Given the description of an element on the screen output the (x, y) to click on. 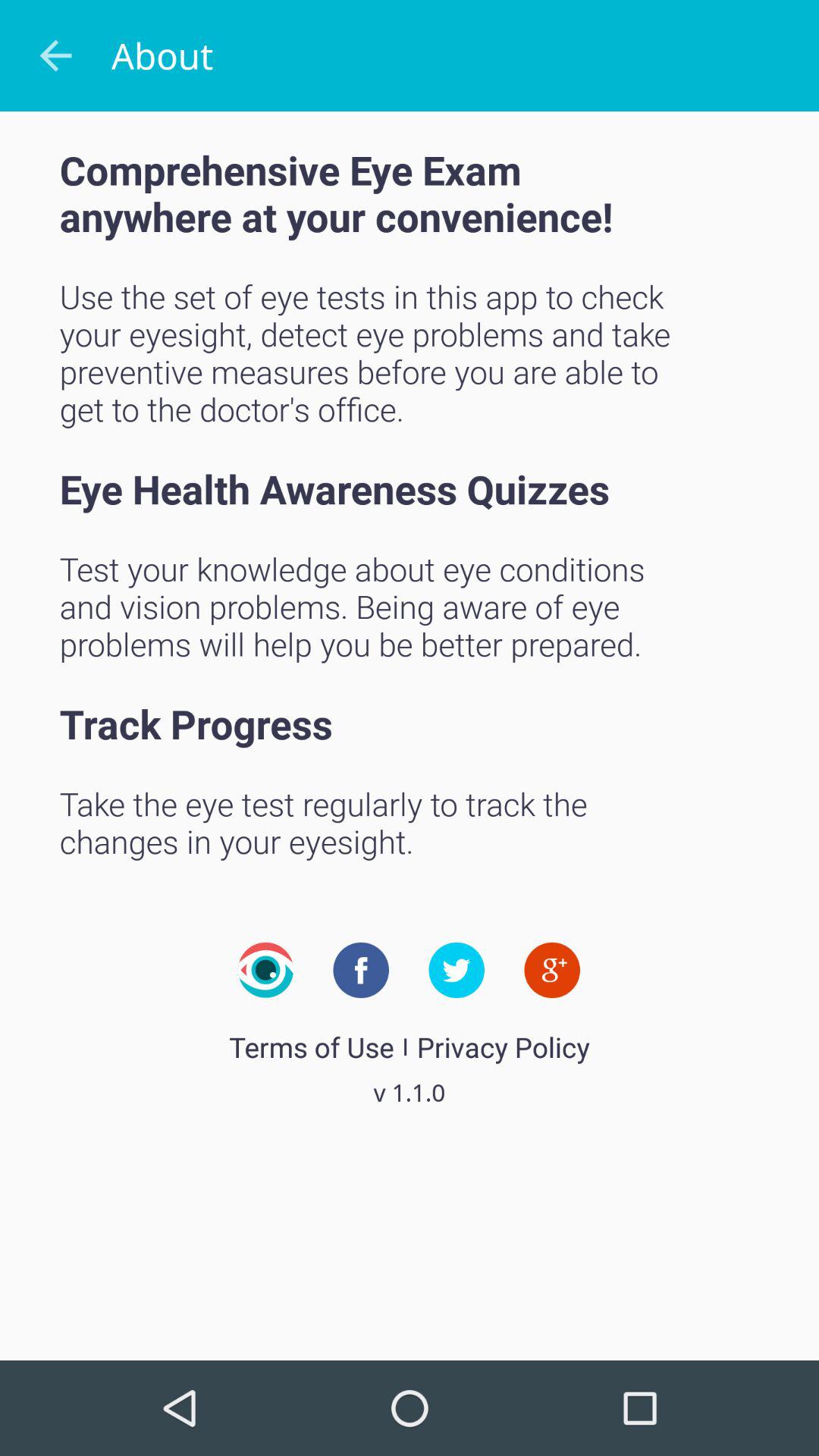
facebook link (361, 970)
